Given the description of an element on the screen output the (x, y) to click on. 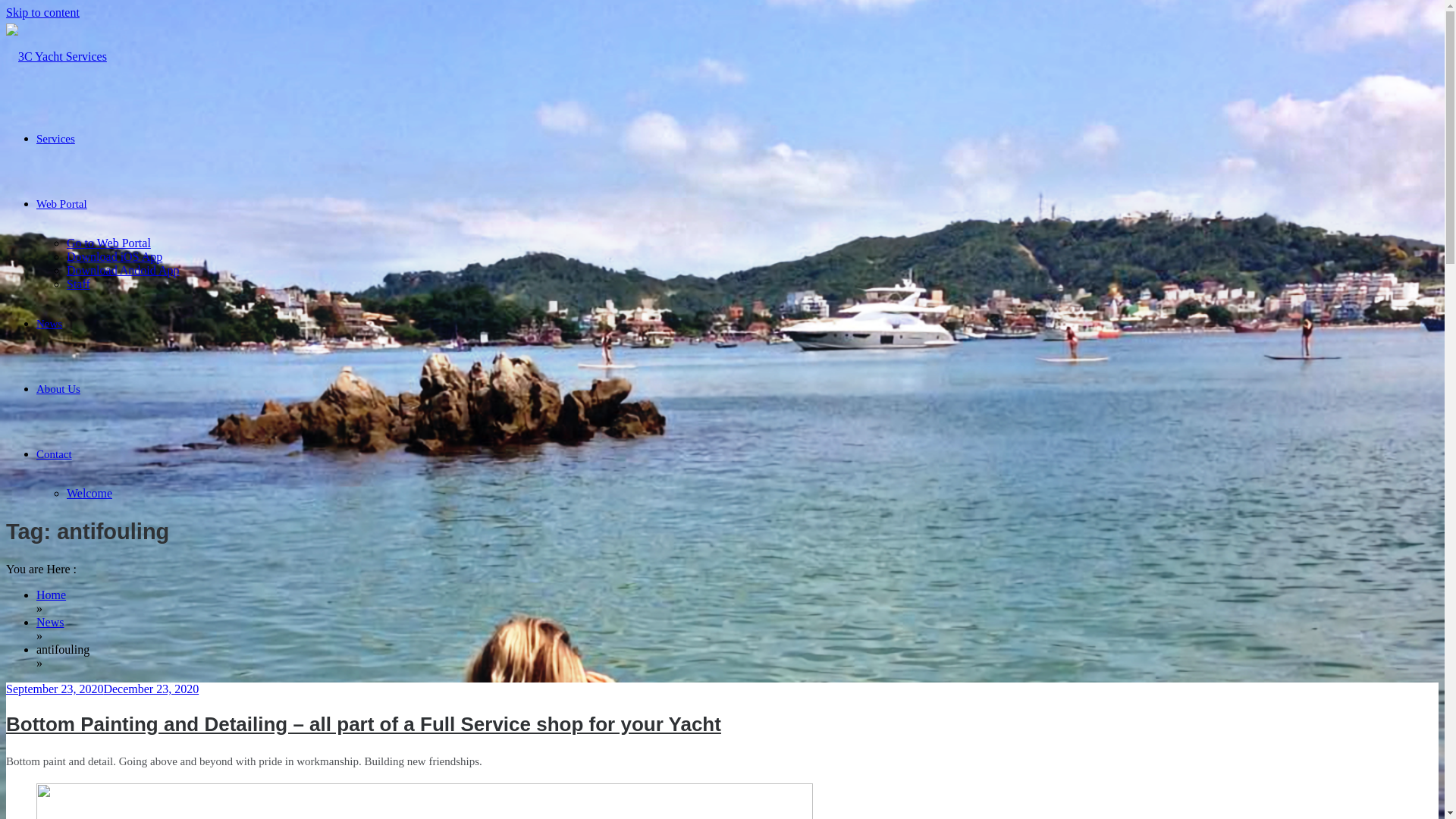
Web Portal Element type: text (61, 203)
September 23, 2020December 23, 2020 Element type: text (102, 688)
Welcome Element type: text (89, 492)
News Element type: text (49, 621)
News Element type: text (49, 323)
Home Element type: text (50, 594)
About Us Element type: text (58, 388)
Contact Element type: text (54, 454)
Skip to content Element type: text (42, 12)
Services Element type: text (55, 138)
Staff Element type: text (78, 283)
3C Yacht Services / 3C Marine & Diesel Ltd. Element type: text (106, 147)
Go to Web Portal Element type: text (108, 242)
Download iOS App Element type: text (114, 256)
Download Andoid App Element type: text (122, 269)
